Given the description of an element on the screen output the (x, y) to click on. 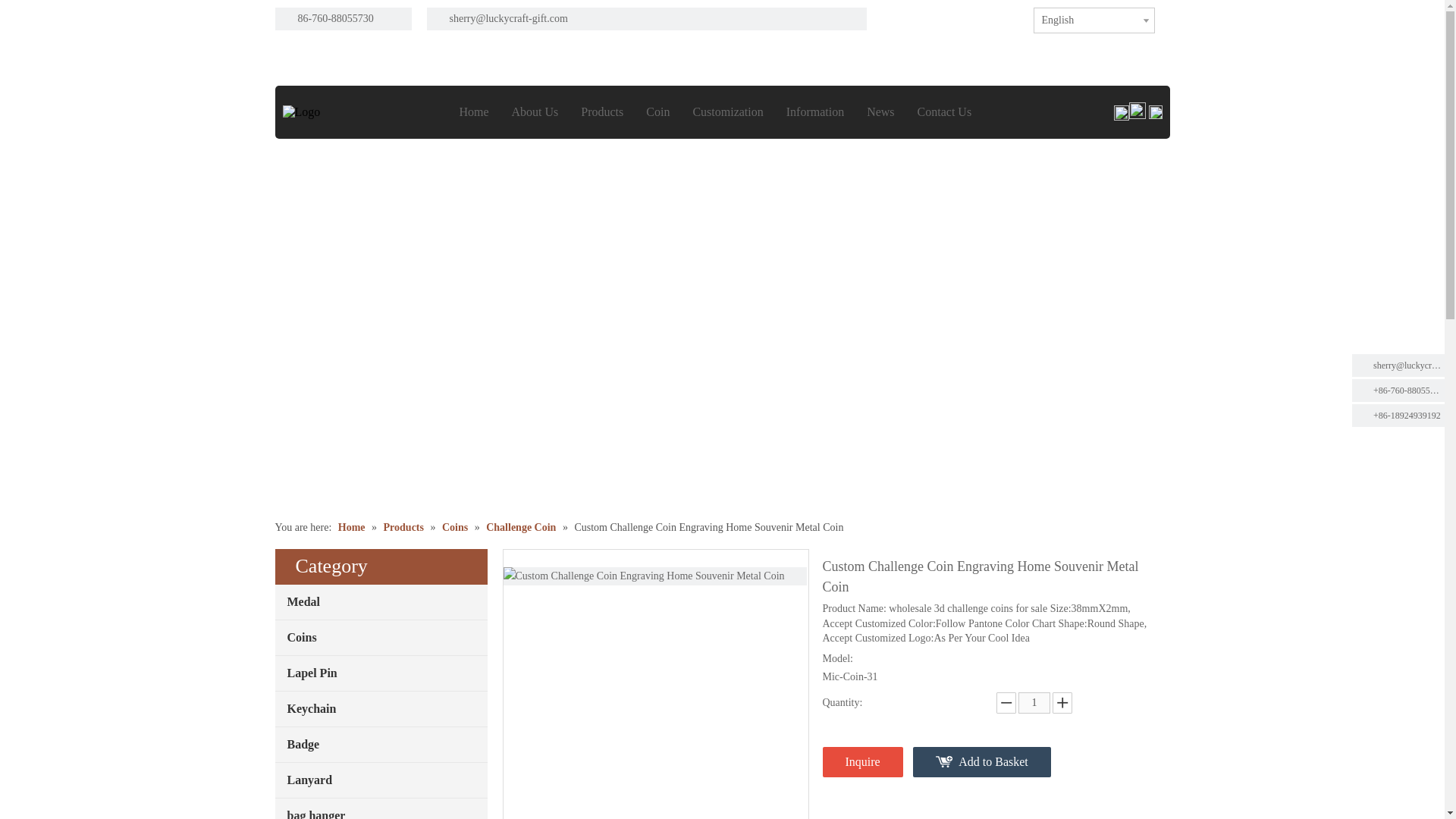
Products (601, 111)
About Us (534, 111)
Linkedin (937, 17)
Pinterest (1006, 17)
Home (472, 111)
Twitter (961, 17)
1 (1033, 702)
Medal (380, 601)
Facebook (914, 17)
Instagram (984, 17)
Coins (380, 637)
